Given the description of an element on the screen output the (x, y) to click on. 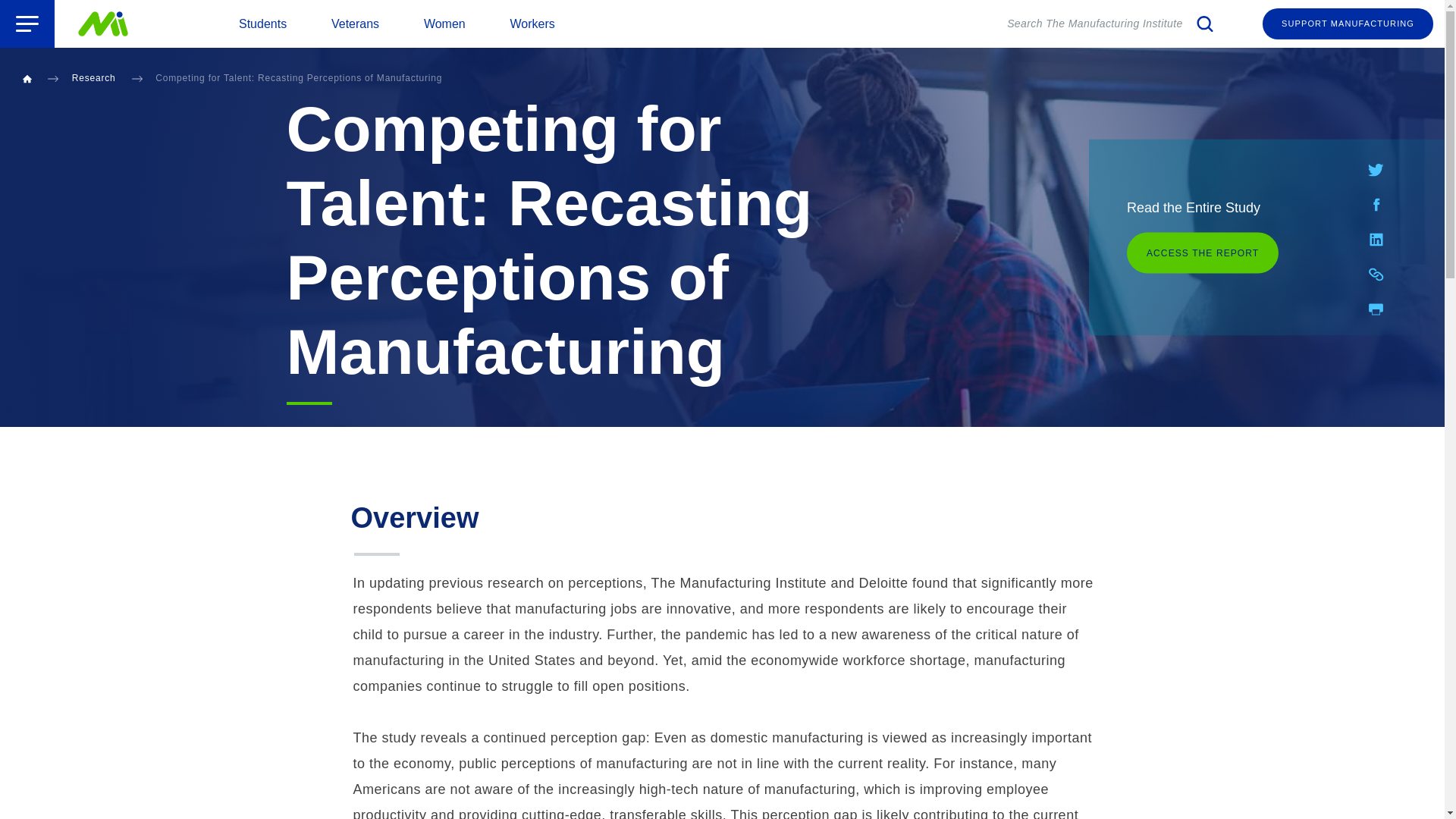
Search The Manufacturing Institute (1111, 23)
Research (93, 77)
Share on Twitter (1376, 168)
ACCESS THE REPORT (1202, 251)
Students (262, 23)
Workers (1375, 238)
SUPPORT MANUFACTURING (531, 23)
Open Menu (1347, 23)
Share Link (27, 23)
Veterans (1375, 273)
LinkedIn icon (354, 23)
Print Page (1375, 239)
